Given the description of an element on the screen output the (x, y) to click on. 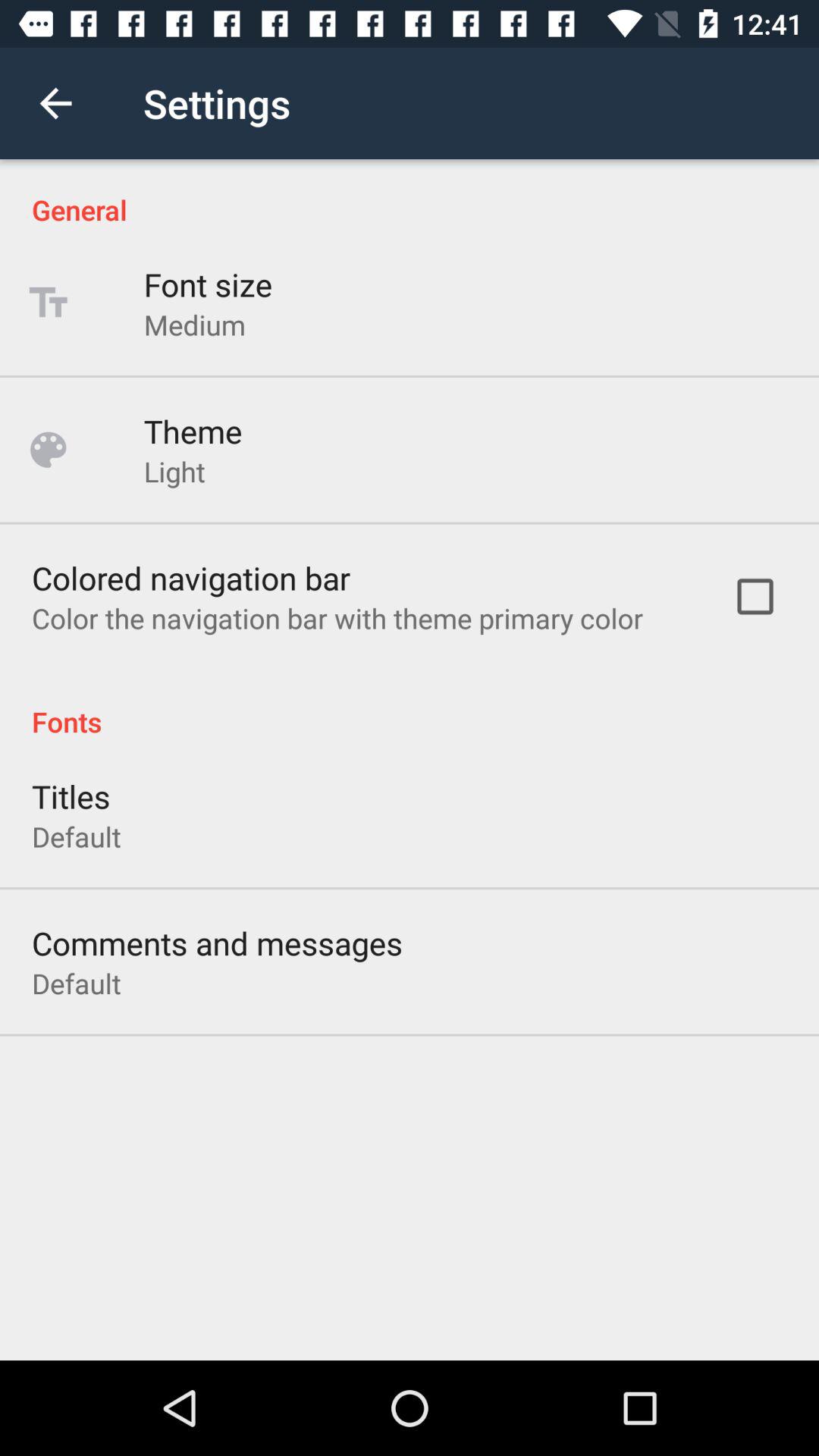
launch the icon above titles icon (409, 705)
